Given the description of an element on the screen output the (x, y) to click on. 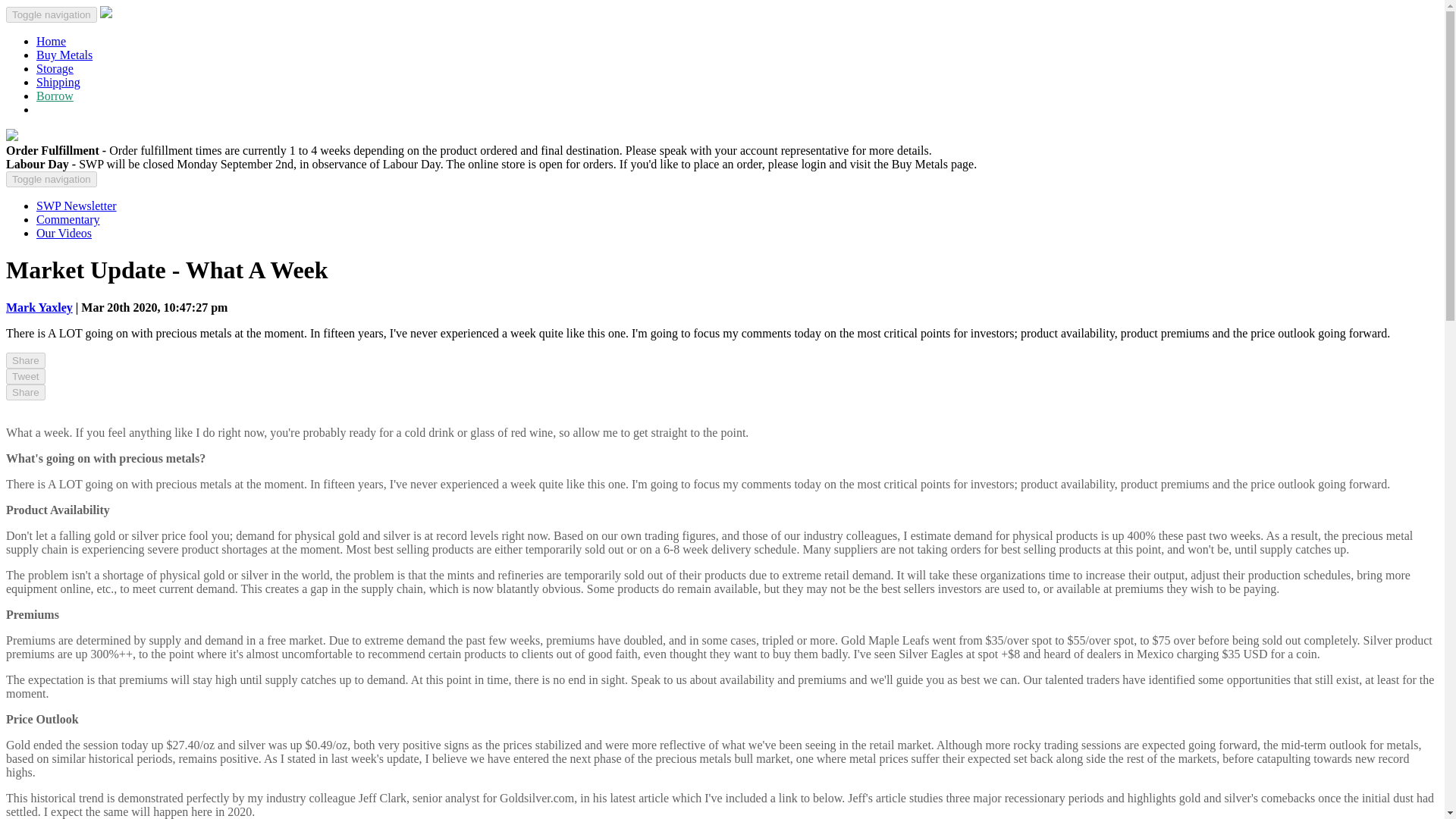
Shipping (58, 82)
Mark Yaxley (38, 307)
Share (25, 392)
Our Videos (63, 232)
Storage (55, 68)
Tweet (25, 376)
Toggle navigation (51, 14)
Toggle navigation (51, 179)
Home (50, 41)
SWP Newsletter (76, 205)
